Given the description of an element on the screen output the (x, y) to click on. 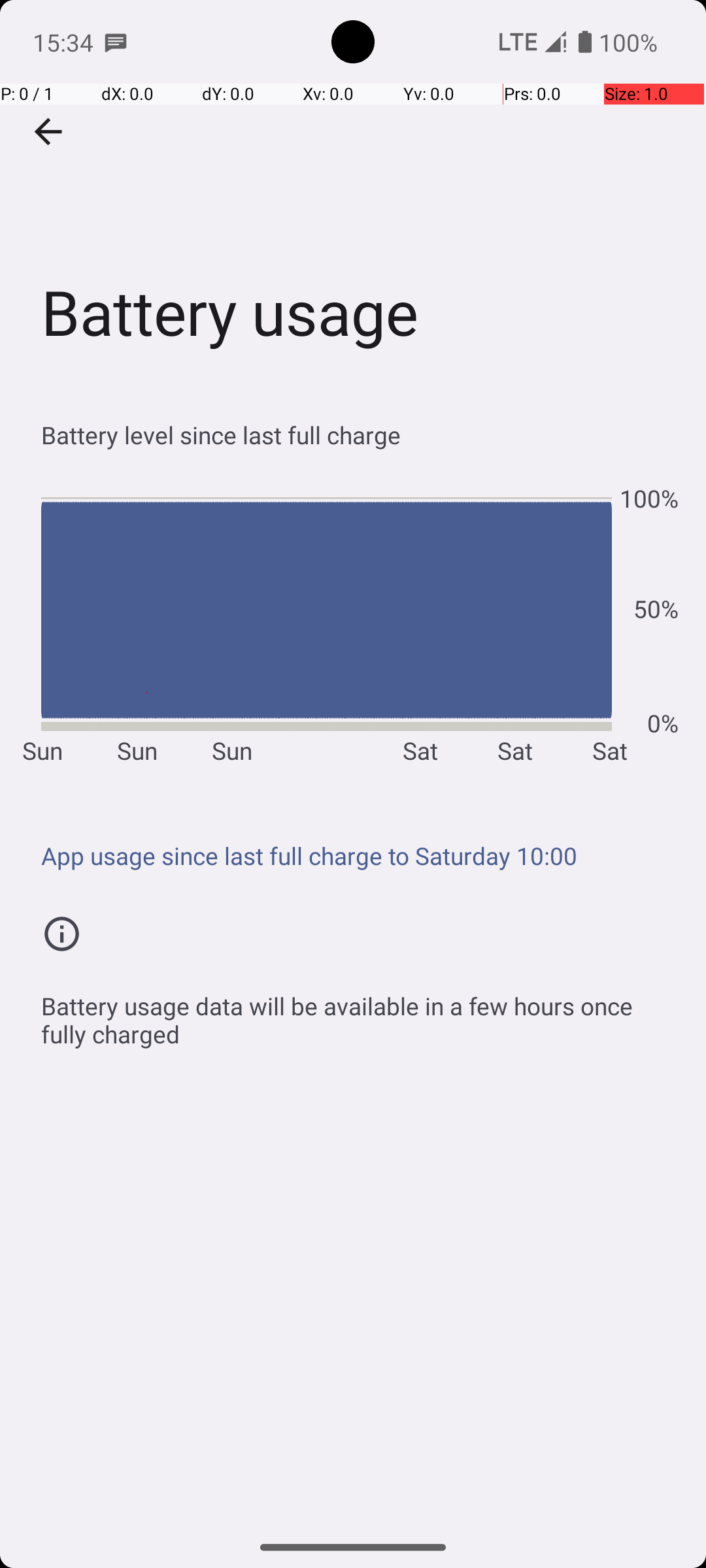
Battery level since last full charge Element type: android.widget.TextView (359, 434)
App usage since last full charge to Saturday 10:00 Element type: android.widget.TextView (359, 855)
Battery usage data will be available in a few hours once fully charged Element type: android.widget.TextView (359, 1012)
